Given the description of an element on the screen output the (x, y) to click on. 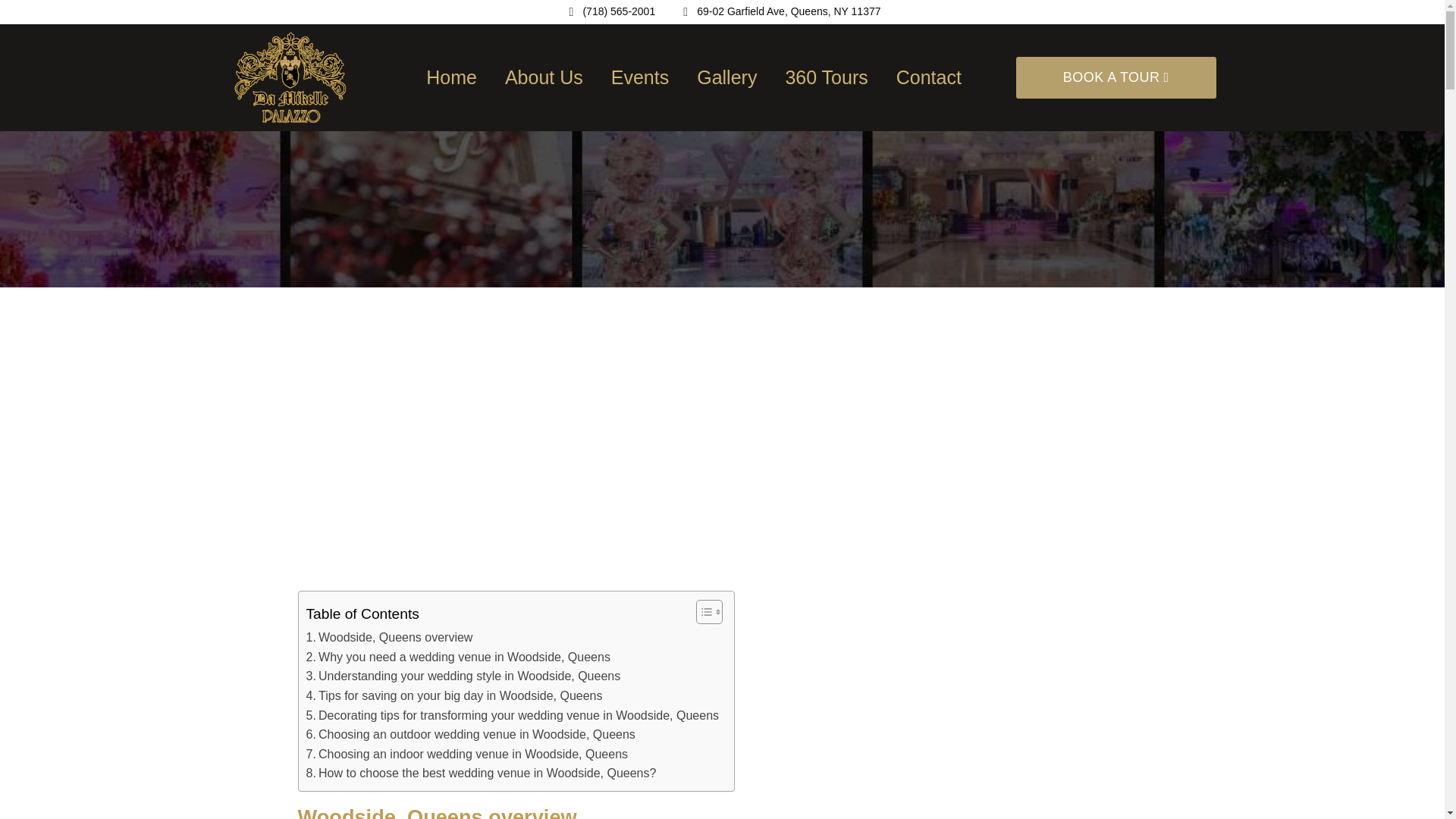
Why you need a wedding venue in Woodside, Queens (457, 657)
Contact (928, 77)
Events (639, 77)
Home (451, 77)
How to choose the best wedding venue in Woodside, Queens? (480, 772)
Choosing an indoor wedding venue in Woodside, Queens (466, 754)
Understanding your wedding style in Woodside, Queens (463, 676)
Choosing an indoor wedding venue in Woodside, Queens (466, 754)
Woodside, Queens overview (389, 637)
About Us (544, 77)
360 Tours (825, 77)
Why you need a wedding venue in Woodside, Queens (457, 657)
69-02 Garfield Ave, Queens, NY 11377 (779, 12)
